Given the description of an element on the screen output the (x, y) to click on. 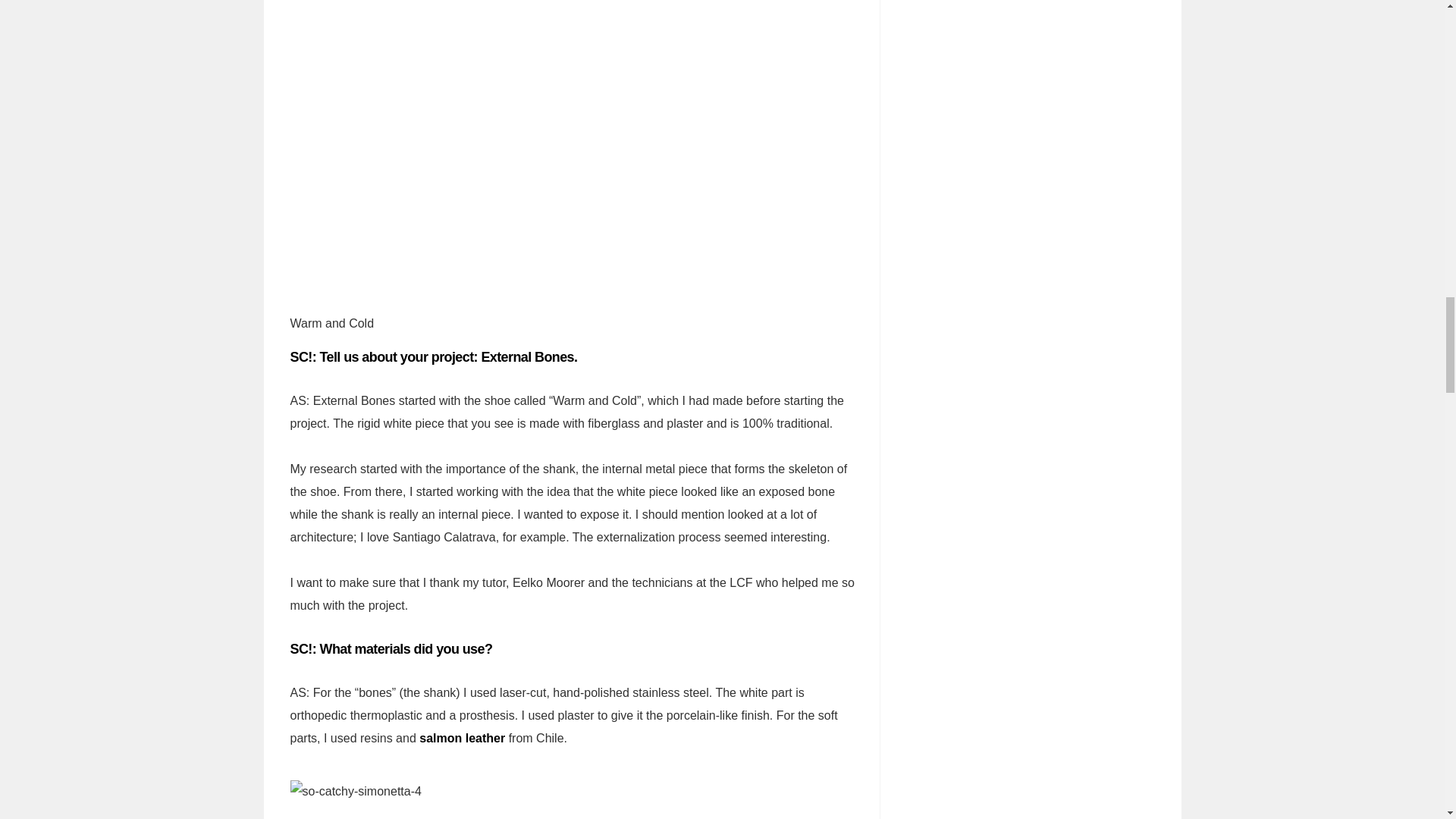
salmon leather (462, 738)
Cuerosalmon.cl (462, 738)
